Given the description of an element on the screen output the (x, y) to click on. 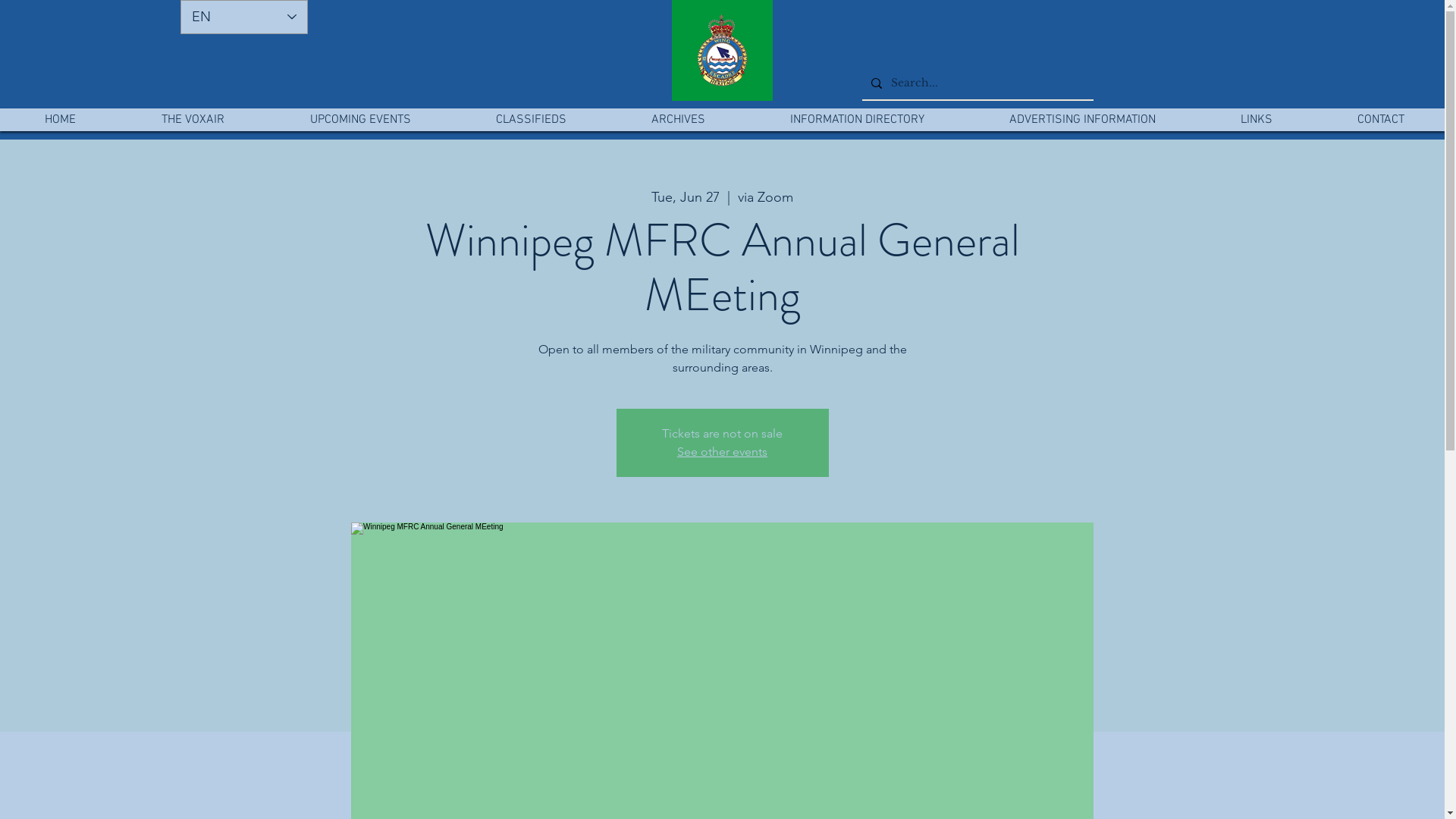
ARCHIVES Element type: text (677, 119)
ADVERTISING INFORMATION Element type: text (1081, 119)
HOME Element type: text (59, 119)
See other events Element type: text (722, 451)
THE VOXAIR Element type: text (192, 119)
LINKS Element type: text (1255, 119)
INFORMATION DIRECTORY Element type: text (856, 119)
UPCOMING EVENTS Element type: text (360, 119)
CLASSIFIEDS Element type: text (530, 119)
CONTACT Element type: text (1380, 119)
